Given the description of an element on the screen output the (x, y) to click on. 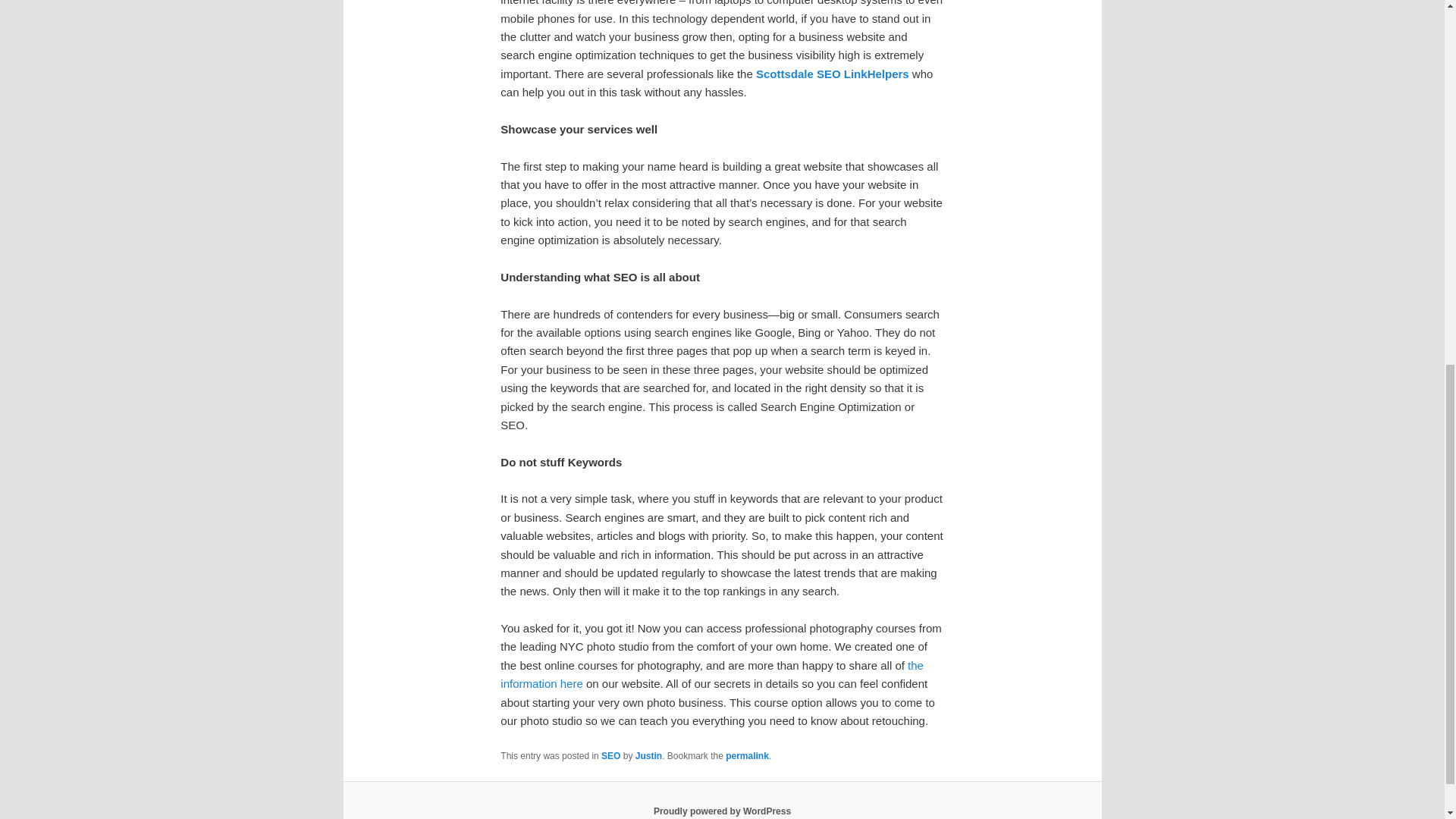
the information here (711, 674)
SEO (610, 756)
permalink (746, 756)
Scottsdale SEO LinkHelpers (831, 73)
Proudly powered by WordPress (721, 810)
Justin (648, 756)
Semantic Personal Publishing Platform (721, 810)
